Given the description of an element on the screen output the (x, y) to click on. 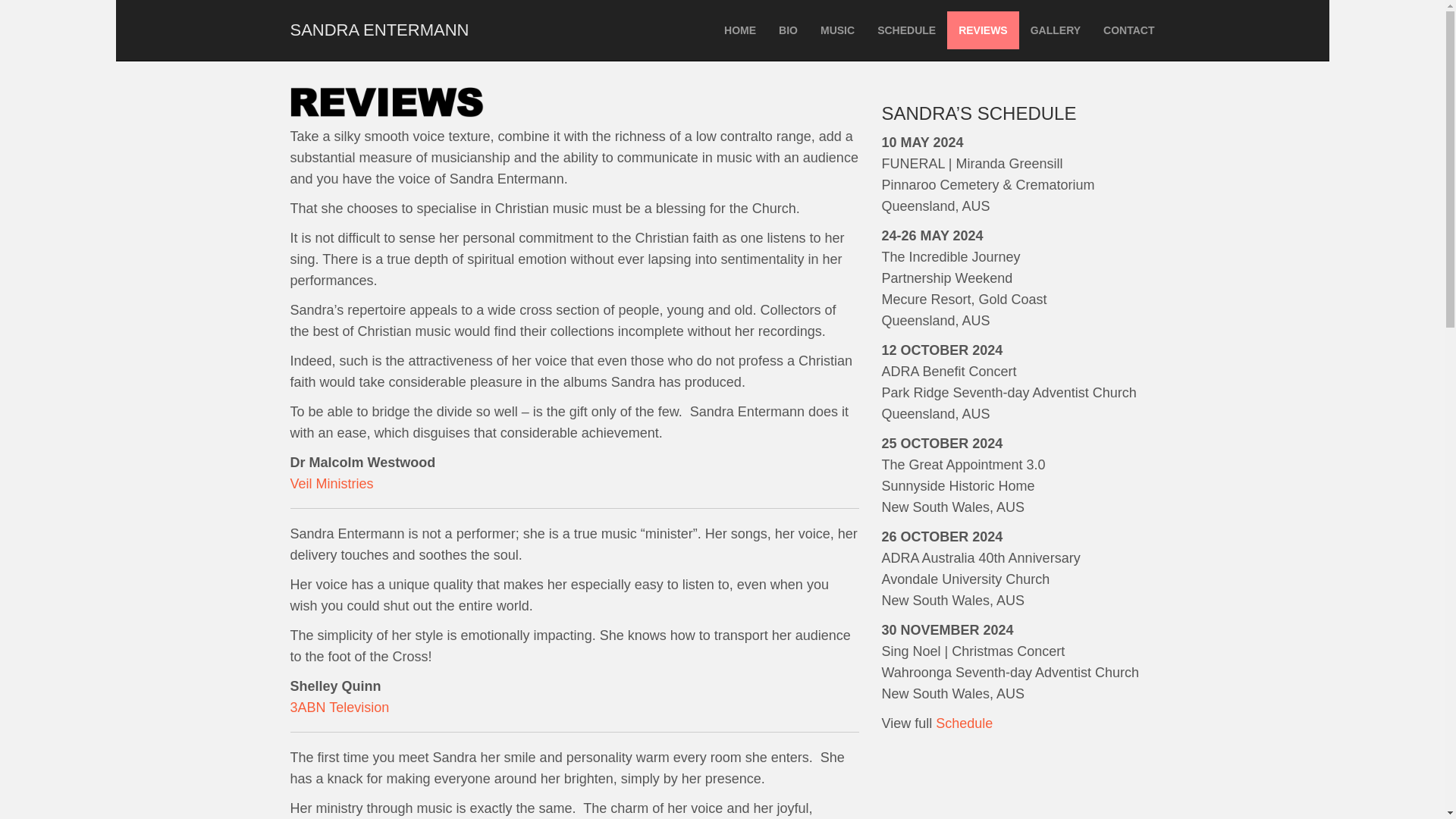
HOME (740, 30)
SANDRA ENTERMANN (379, 30)
3ABN Television (338, 707)
Home (740, 30)
Veil Ministries (330, 483)
GALLERY (1055, 30)
Schedule (906, 30)
SCHEDULE (906, 30)
BIO (788, 30)
CONTACT (1129, 30)
Schedule (964, 723)
Gallery (1055, 30)
Contact (1129, 30)
Bio (788, 30)
Music (837, 30)
